Given the description of an element on the screen output the (x, y) to click on. 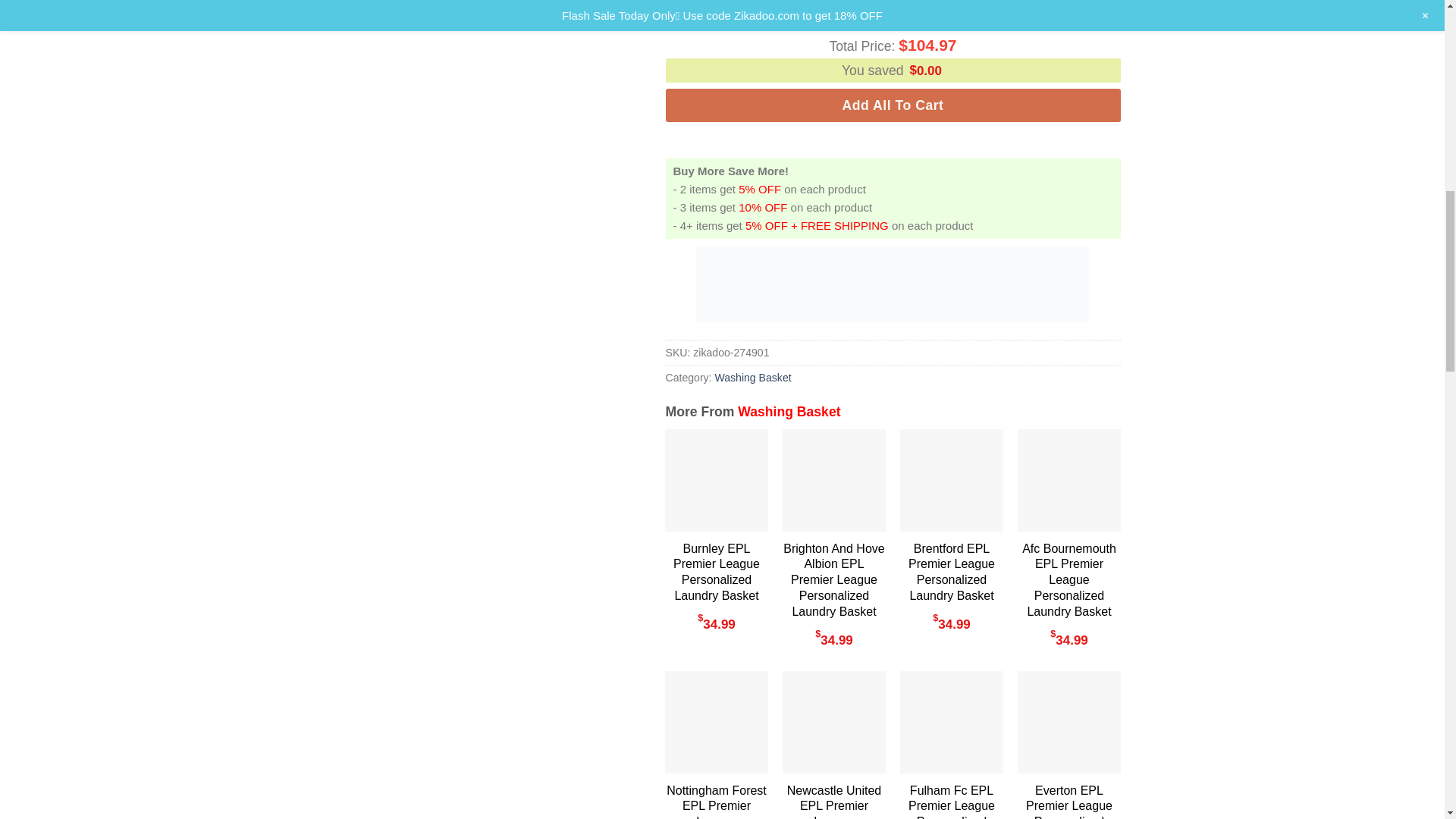
Burnley EPL Premier League Personalized Laundry Basket (716, 572)
Brentford EPL Premier League Personalized Laundry Basket (951, 572)
Washing Basket (752, 377)
Washing Basket (789, 411)
Add All To Cart (893, 105)
